Given the description of an element on the screen output the (x, y) to click on. 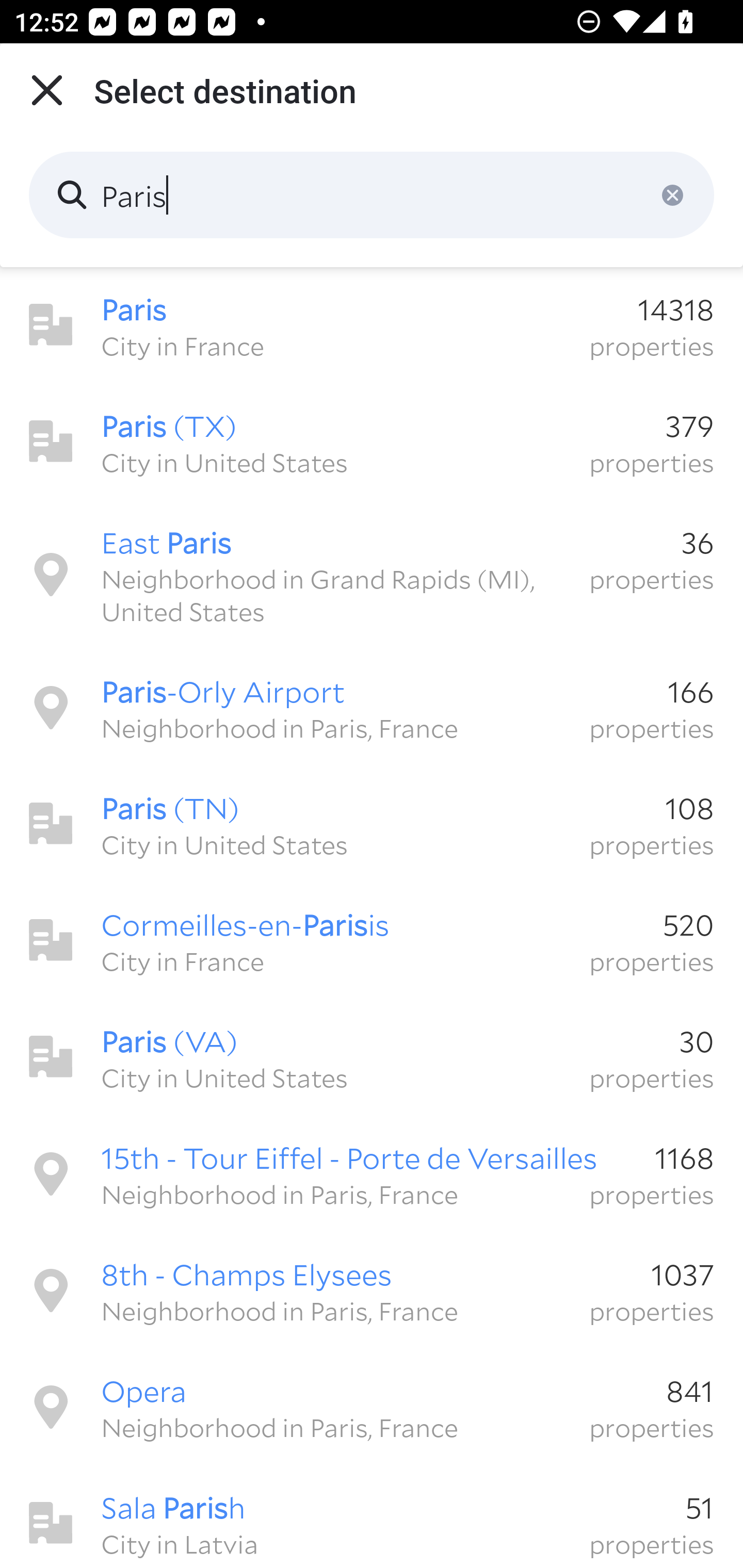
Paris (371, 195)
Paris 14318 City in France properties (371, 325)
Paris (TX) 379 City in United States properties (371, 442)
Paris (TN) 108 City in United States properties (371, 823)
Paris (VA) 30 City in United States properties (371, 1057)
Opera 841 Neighborhood in Paris, France properties (371, 1407)
Sala Parish 51 City in Latvia properties (371, 1517)
